Given the description of an element on the screen output the (x, y) to click on. 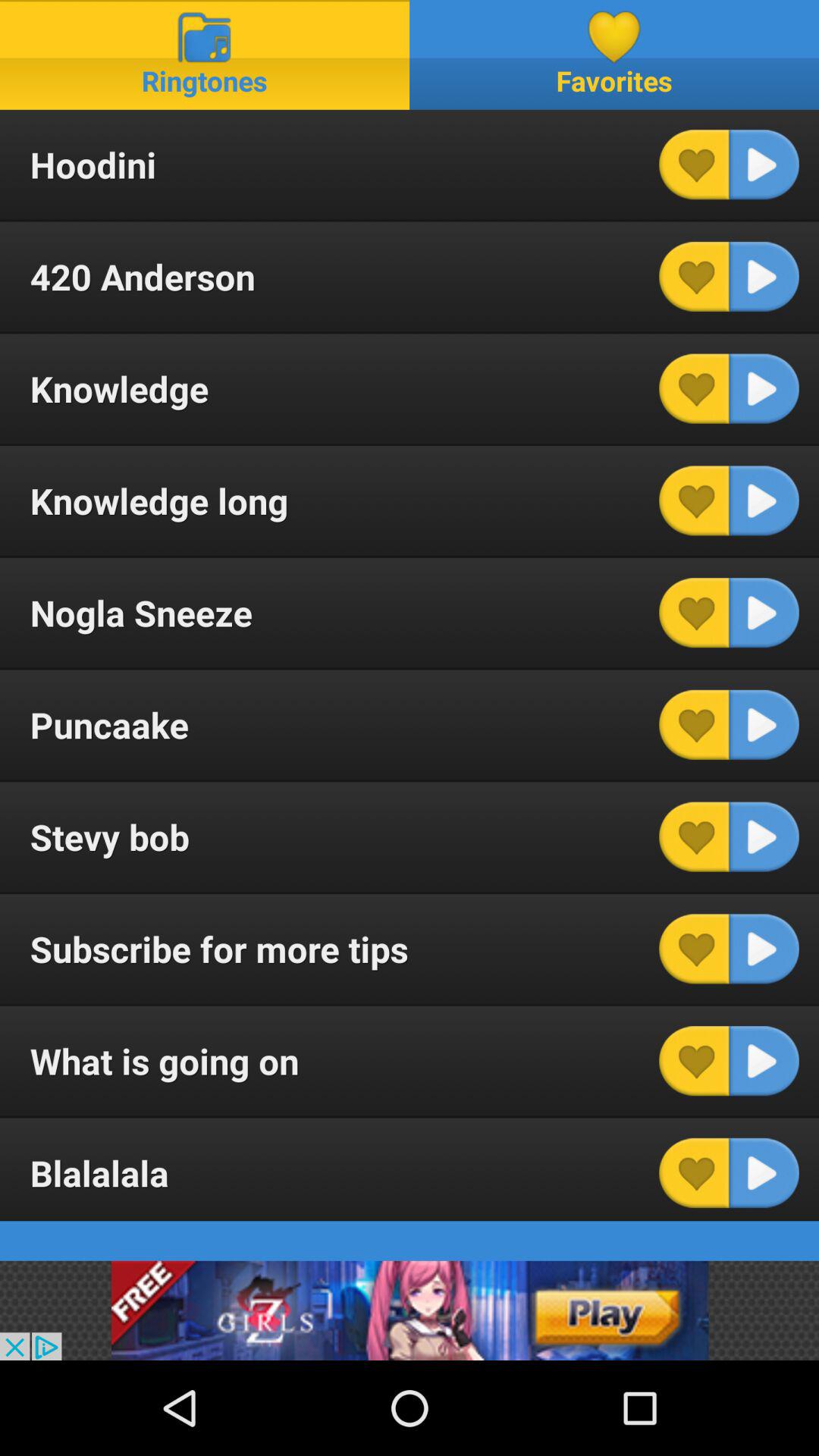
add to favorites (694, 164)
